Given the description of an element on the screen output the (x, y) to click on. 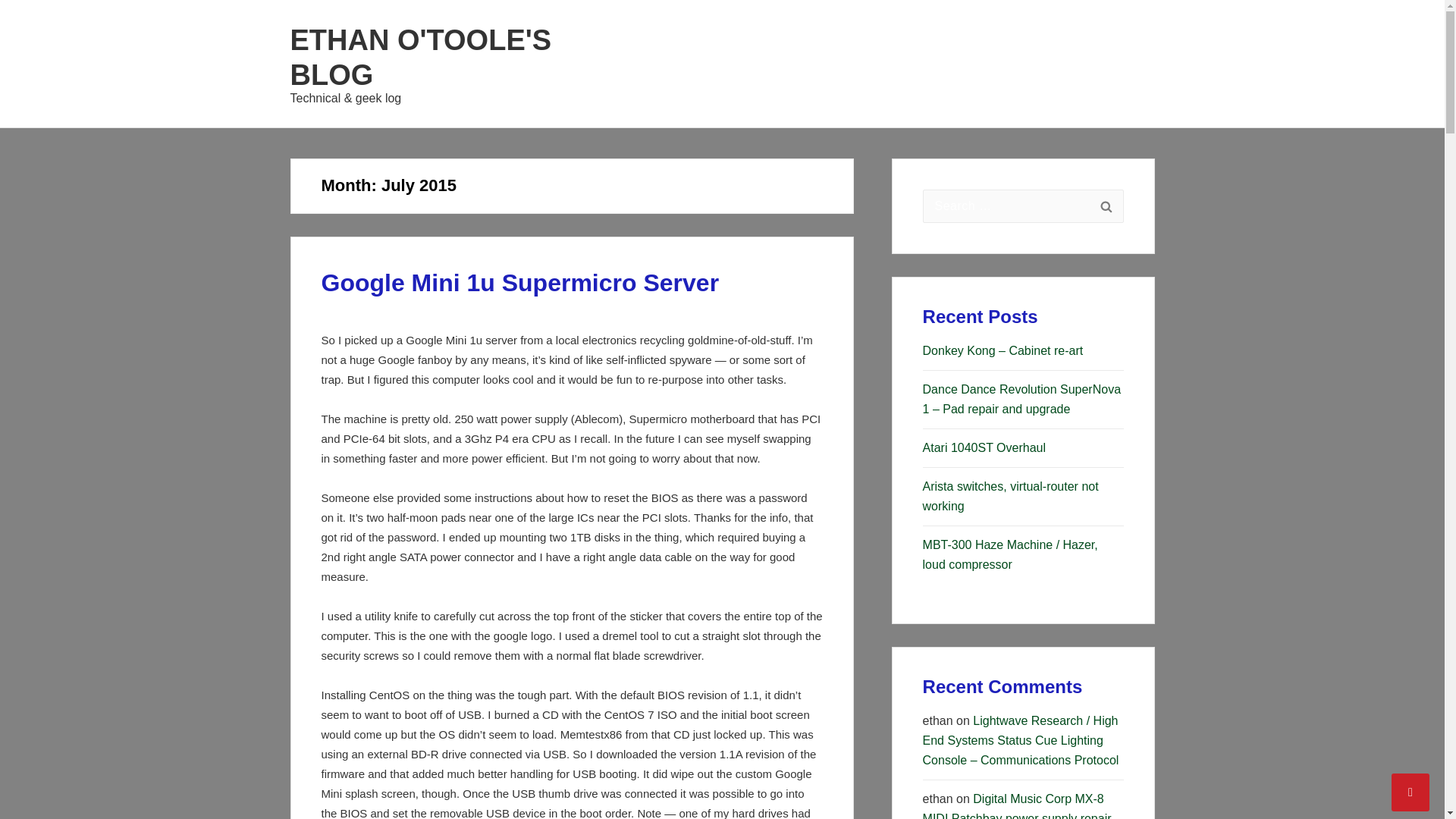
Search (1106, 206)
Digital Music Corp MX-8 MIDI Patchbay power supply repair (1017, 805)
Search (1106, 206)
Search (1106, 206)
Arista switches, virtual-router not working (1011, 495)
ETHAN O'TOOLE'S BLOG (420, 57)
Atari 1040ST Overhaul (984, 447)
Google Mini 1u Supermicro Server (520, 282)
